Given the description of an element on the screen output the (x, y) to click on. 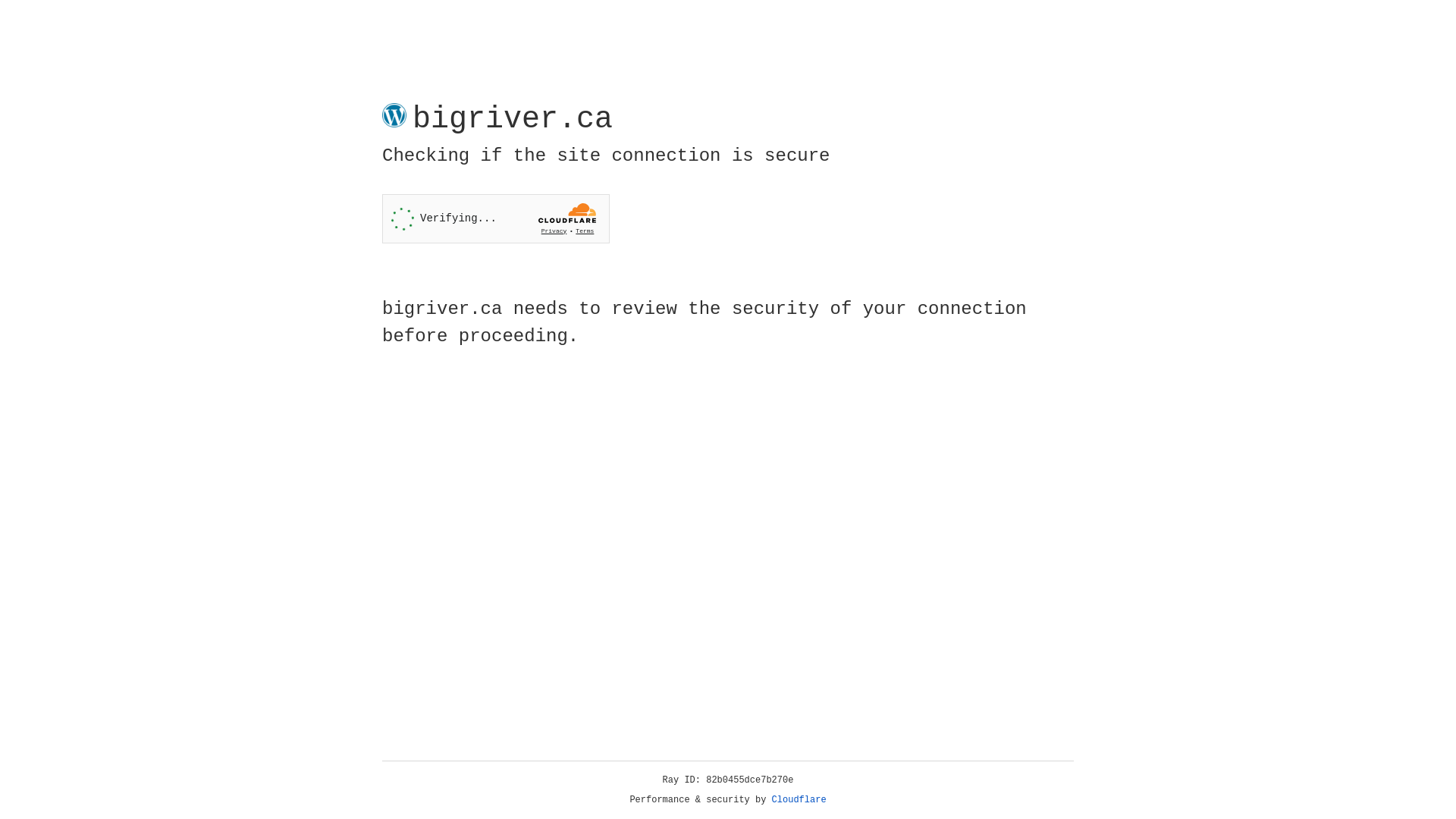
Cloudflare Element type: text (798, 799)
Widget containing a Cloudflare security challenge Element type: hover (495, 218)
